Given the description of an element on the screen output the (x, y) to click on. 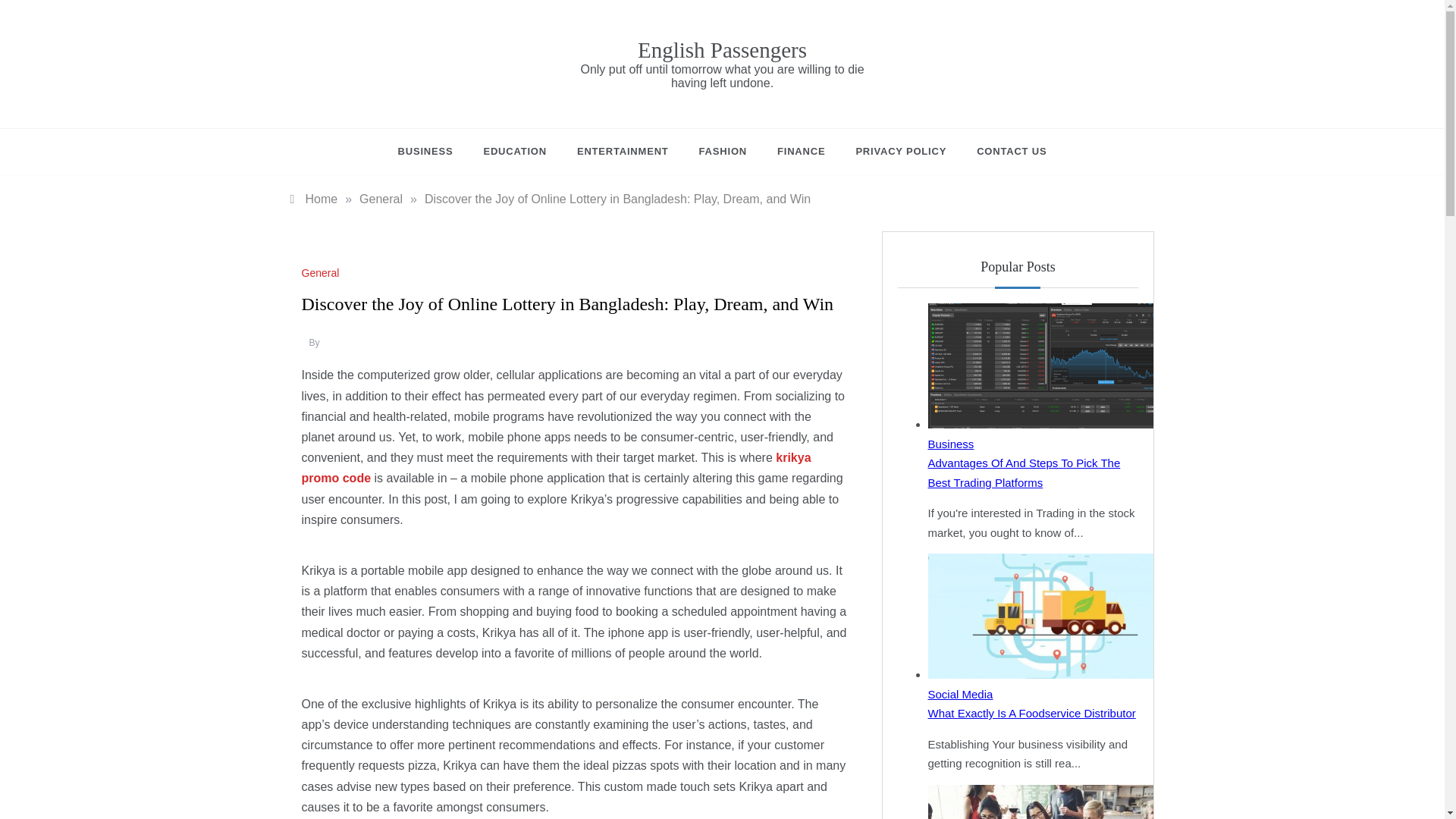
CONTACT US (1003, 151)
BUSINESS (432, 151)
English Passengers (721, 49)
Home (313, 198)
ENTERTAINMENT (623, 151)
General (322, 272)
FASHION (722, 151)
FINANCE (800, 151)
EDUCATION (514, 151)
General (381, 198)
